Given the description of an element on the screen output the (x, y) to click on. 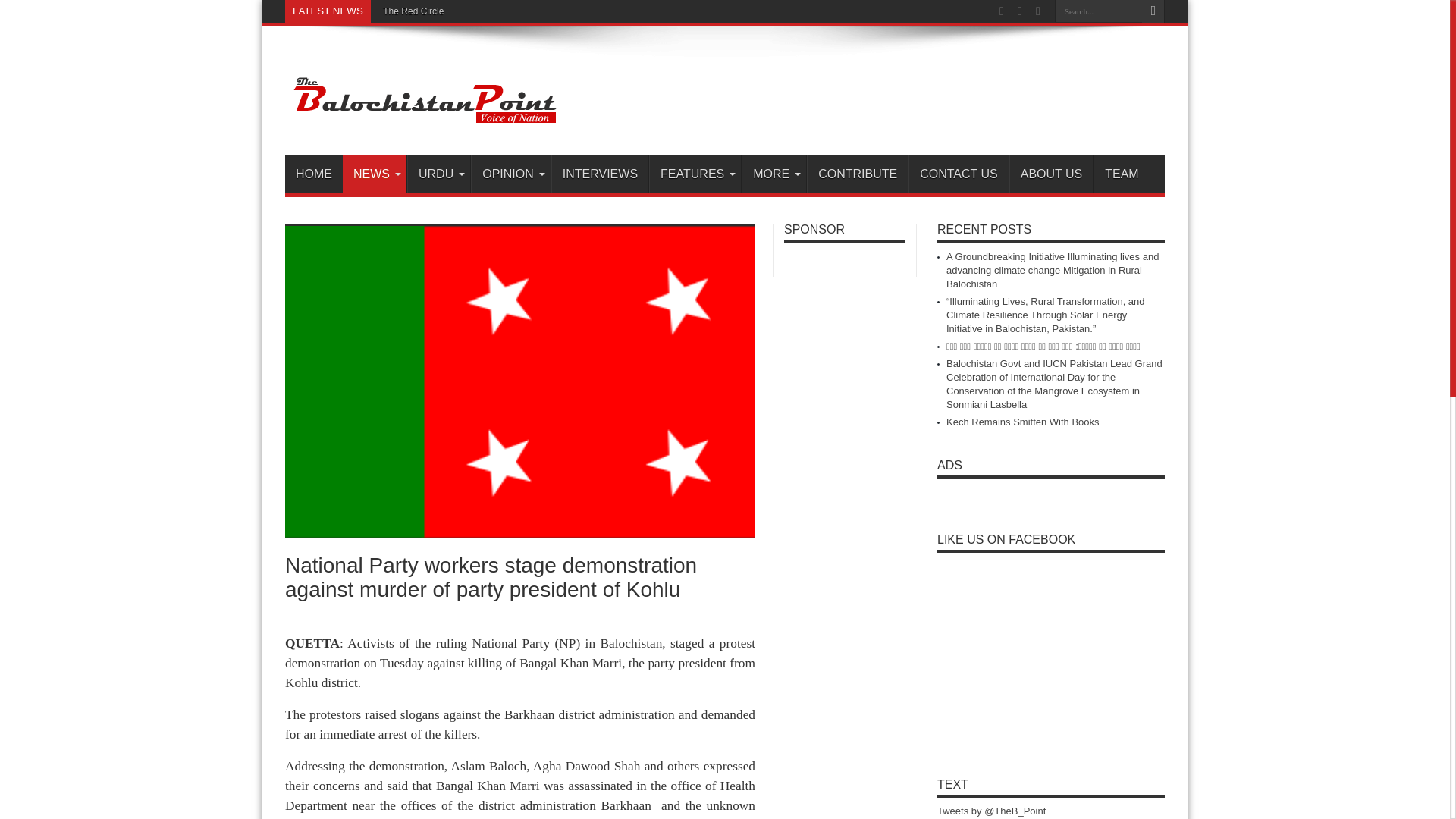
CONTRIBUTE (856, 174)
Balochistan Point (422, 117)
TEAM (1120, 174)
ABOUT US (1051, 174)
Search (1152, 11)
OPINION (510, 174)
FEATURES (695, 174)
NEWS (374, 174)
Search... (1097, 11)
CONTACT US (958, 174)
MORE (773, 174)
URDU (438, 174)
INTERVIEWS (599, 174)
HOME (313, 174)
